Given the description of an element on the screen output the (x, y) to click on. 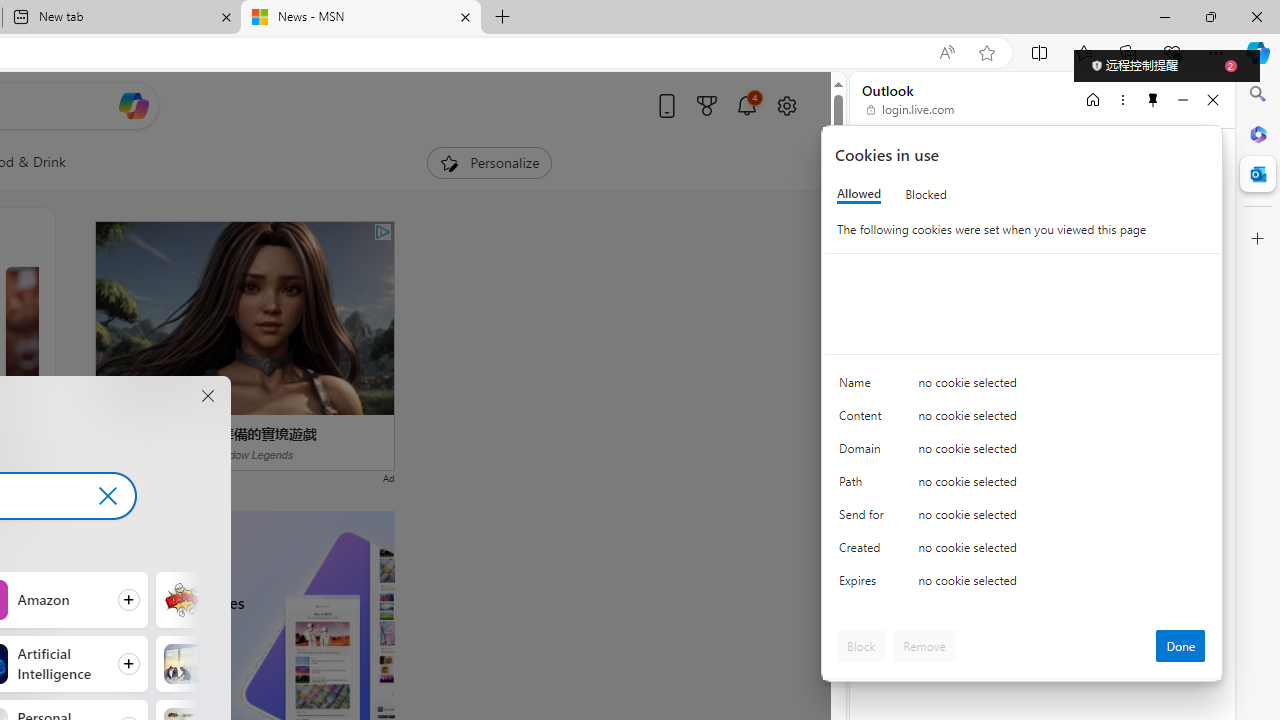
Done (1179, 645)
Send for (864, 518)
See more (24, 589)
